Given the description of an element on the screen output the (x, y) to click on. 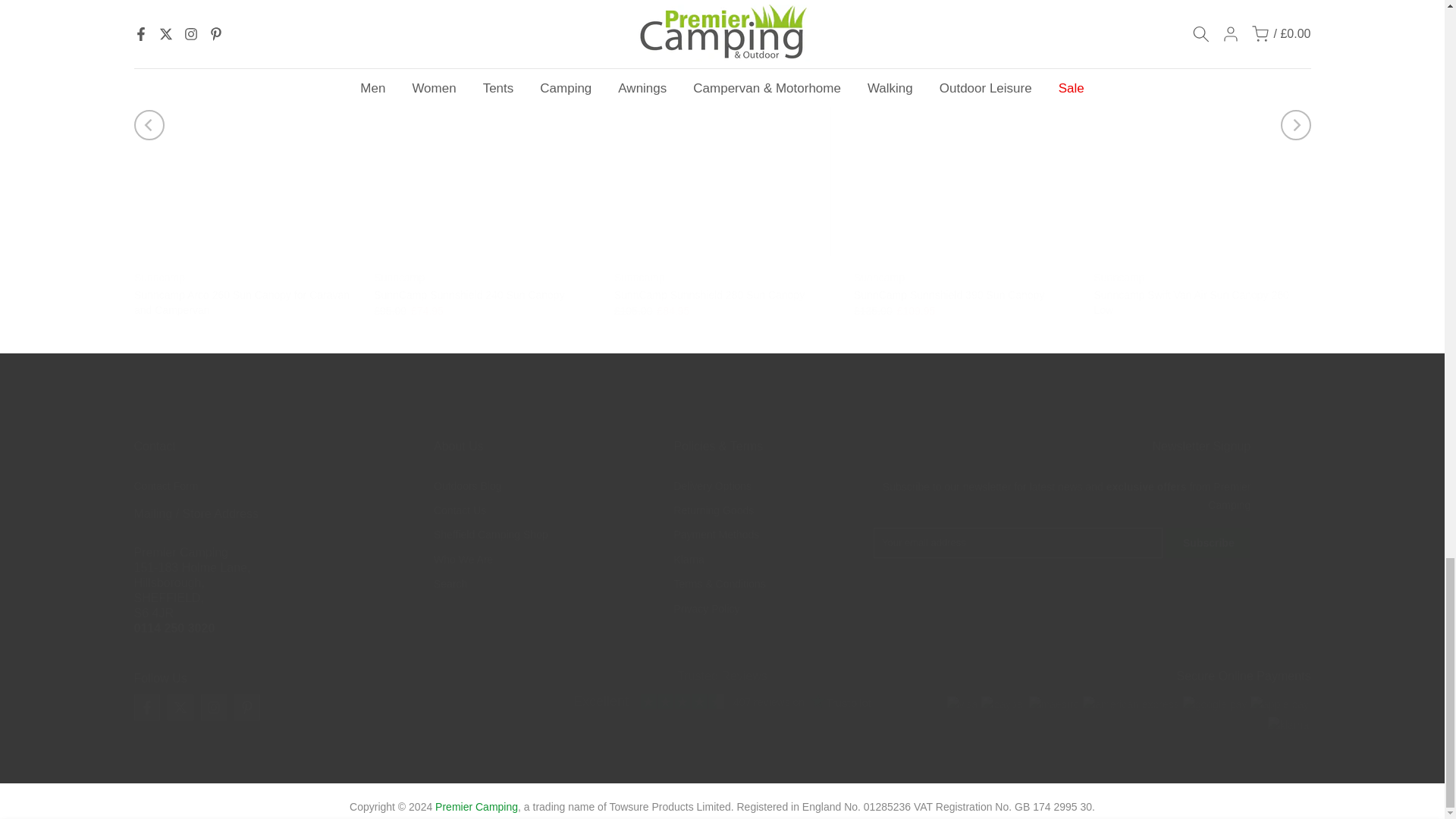
Follow on Facebook (145, 707)
Follow on Pinterest (245, 707)
Follow on Instagram (212, 707)
Follow on Twitter (179, 707)
Customer reviews powered by Trustpilot (722, 701)
